Given the description of an element on the screen output the (x, y) to click on. 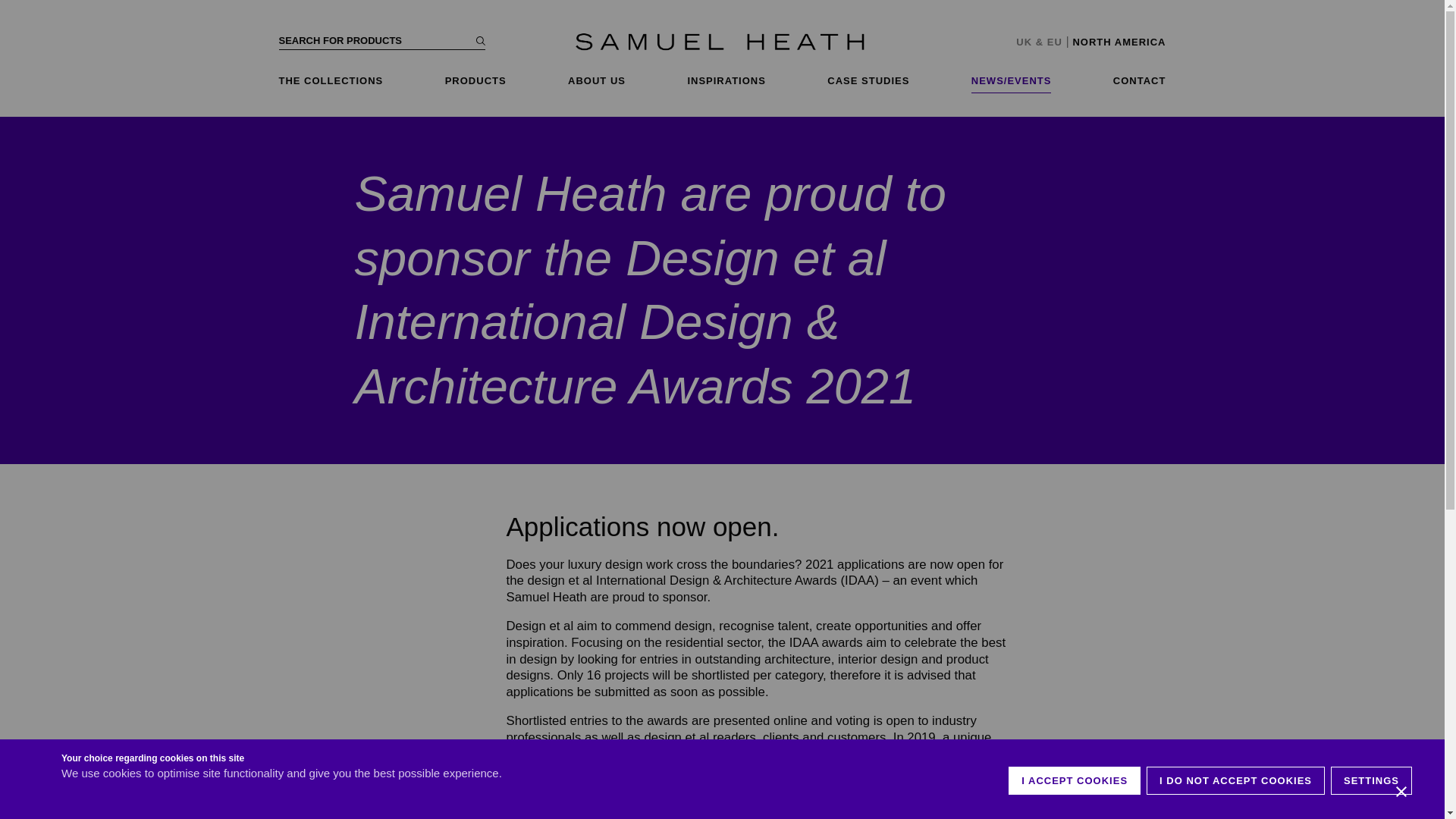
I DO NOT ACCEPT COOKIES (1235, 816)
Europe (1054, 41)
SETTINGS (1371, 812)
North American website (1118, 41)
United Kingdom (1024, 41)
